Given the description of an element on the screen output the (x, y) to click on. 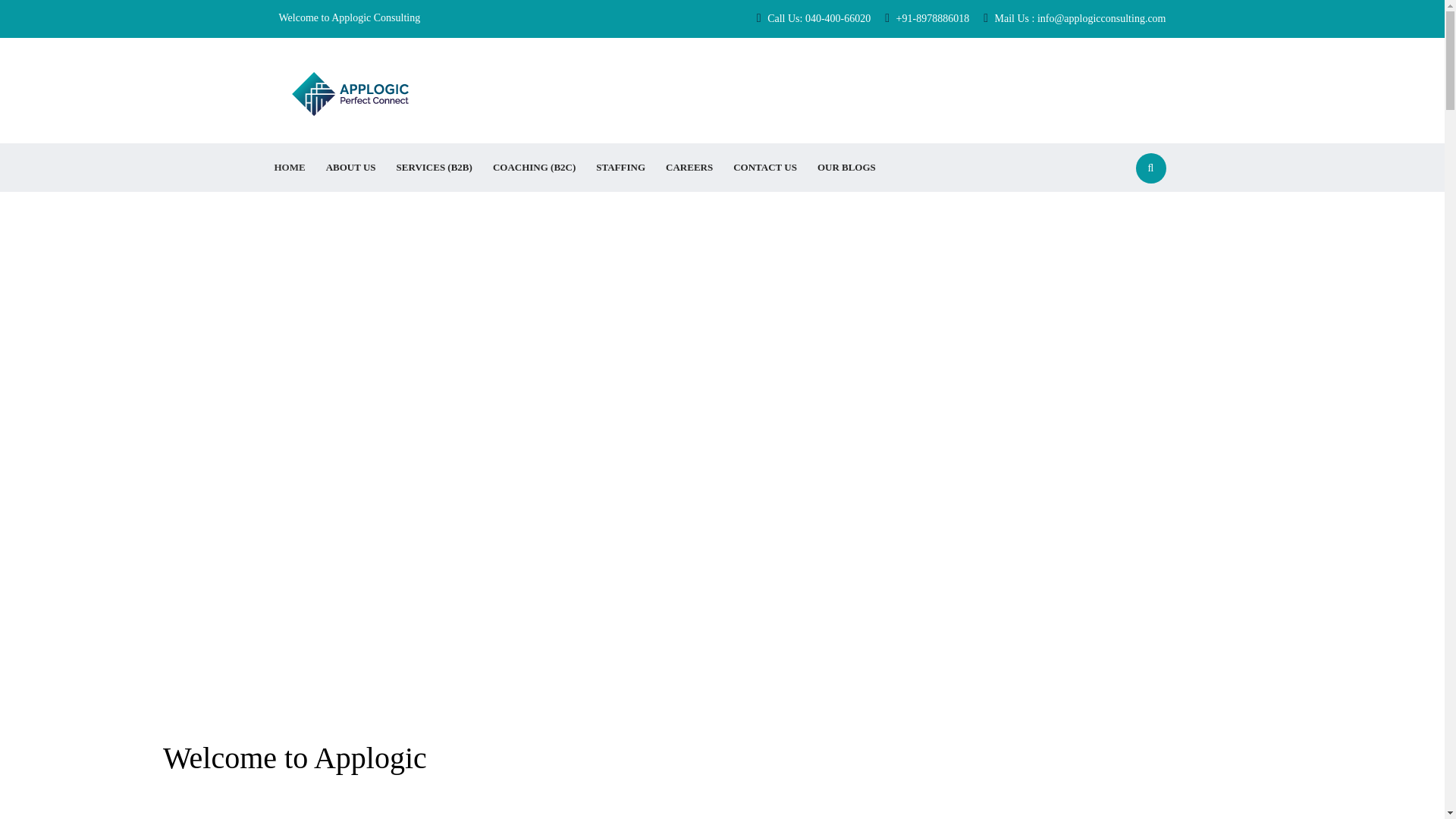
CONTACT US (764, 167)
040-400-66020 (837, 18)
STAFFING (619, 167)
HOME (288, 167)
ABOUT US (349, 167)
Logo (350, 93)
Home (288, 167)
CAREERS (687, 167)
OUR BLOGS (845, 167)
About Us (349, 167)
